Given the description of an element on the screen output the (x, y) to click on. 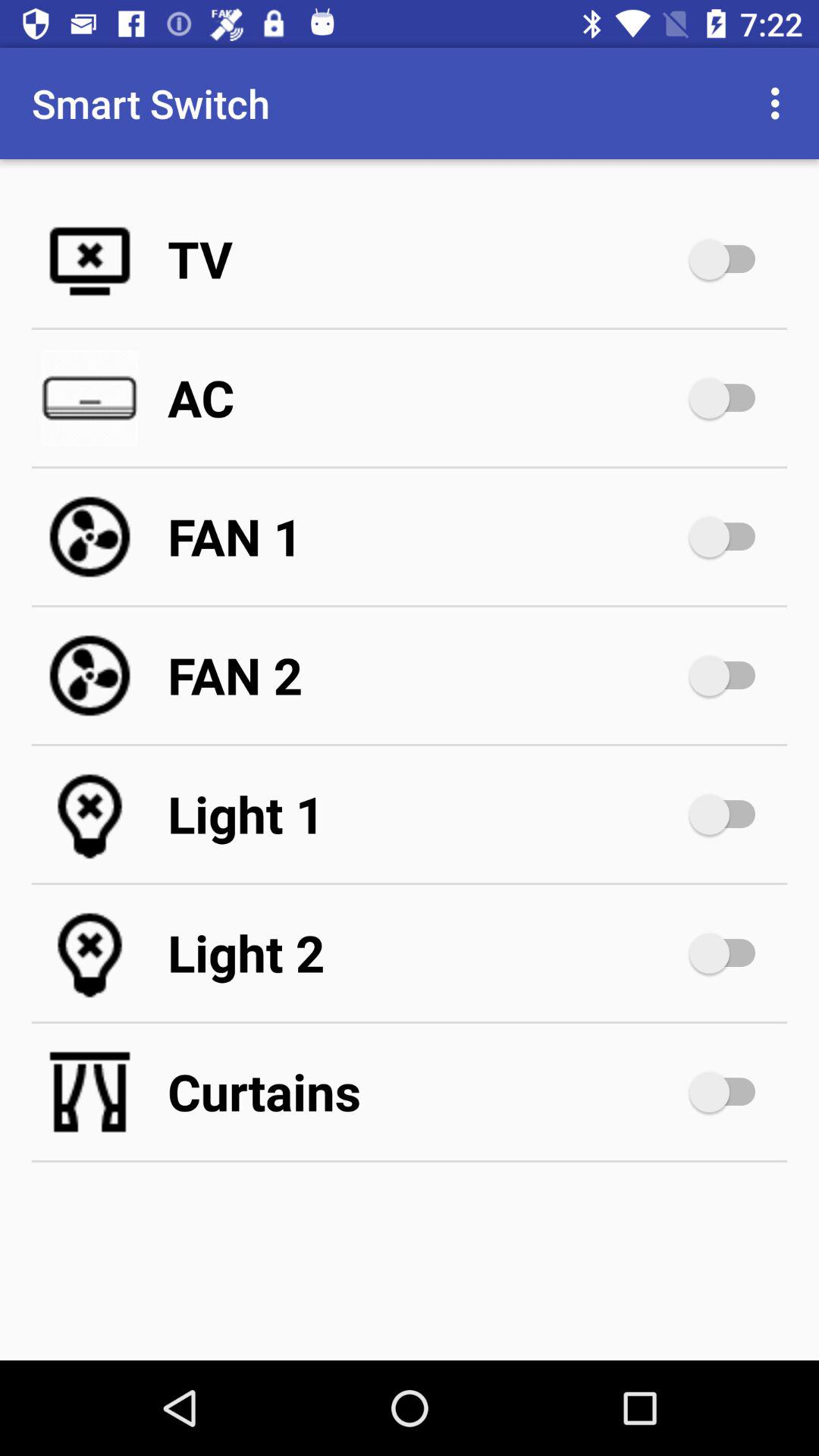
open the icon below fan 1 item (424, 675)
